Given the description of an element on the screen output the (x, y) to click on. 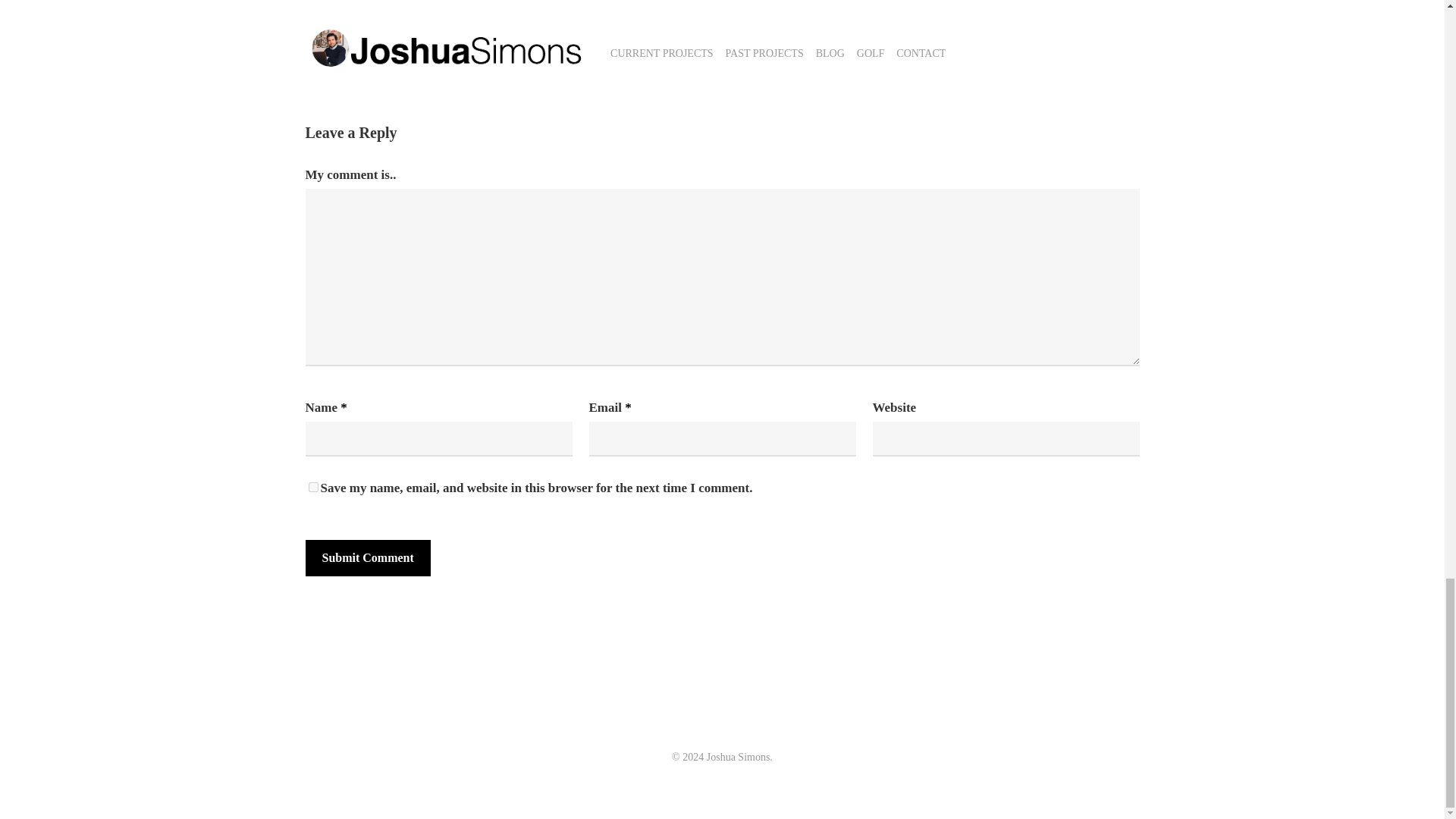
Submit Comment (366, 557)
Submit Comment (366, 557)
yes (312, 487)
